Given the description of an element on the screen output the (x, y) to click on. 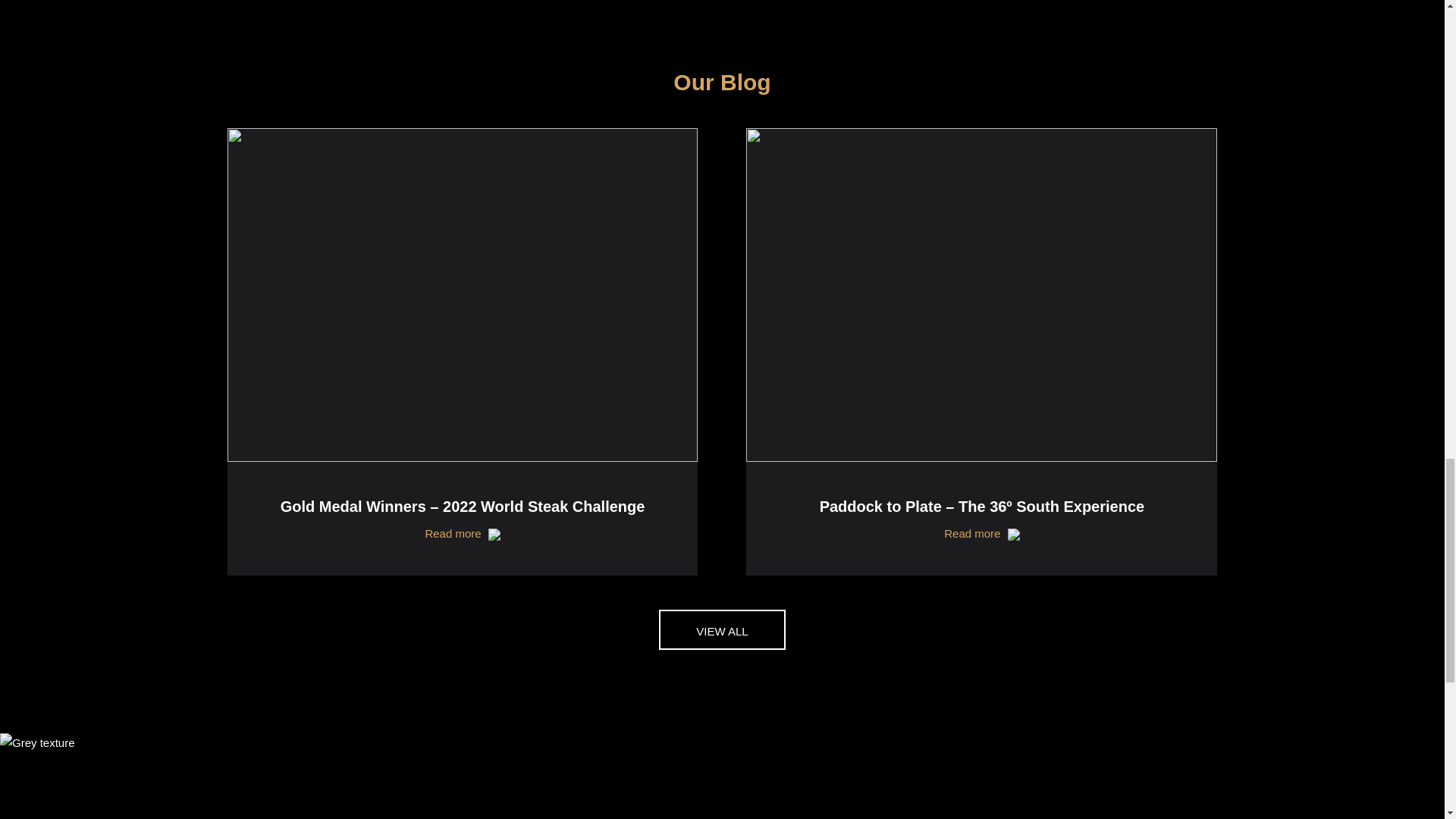
VIEW ALL (722, 629)
Read more (462, 532)
Read more (981, 532)
